Given the description of an element on the screen output the (x, y) to click on. 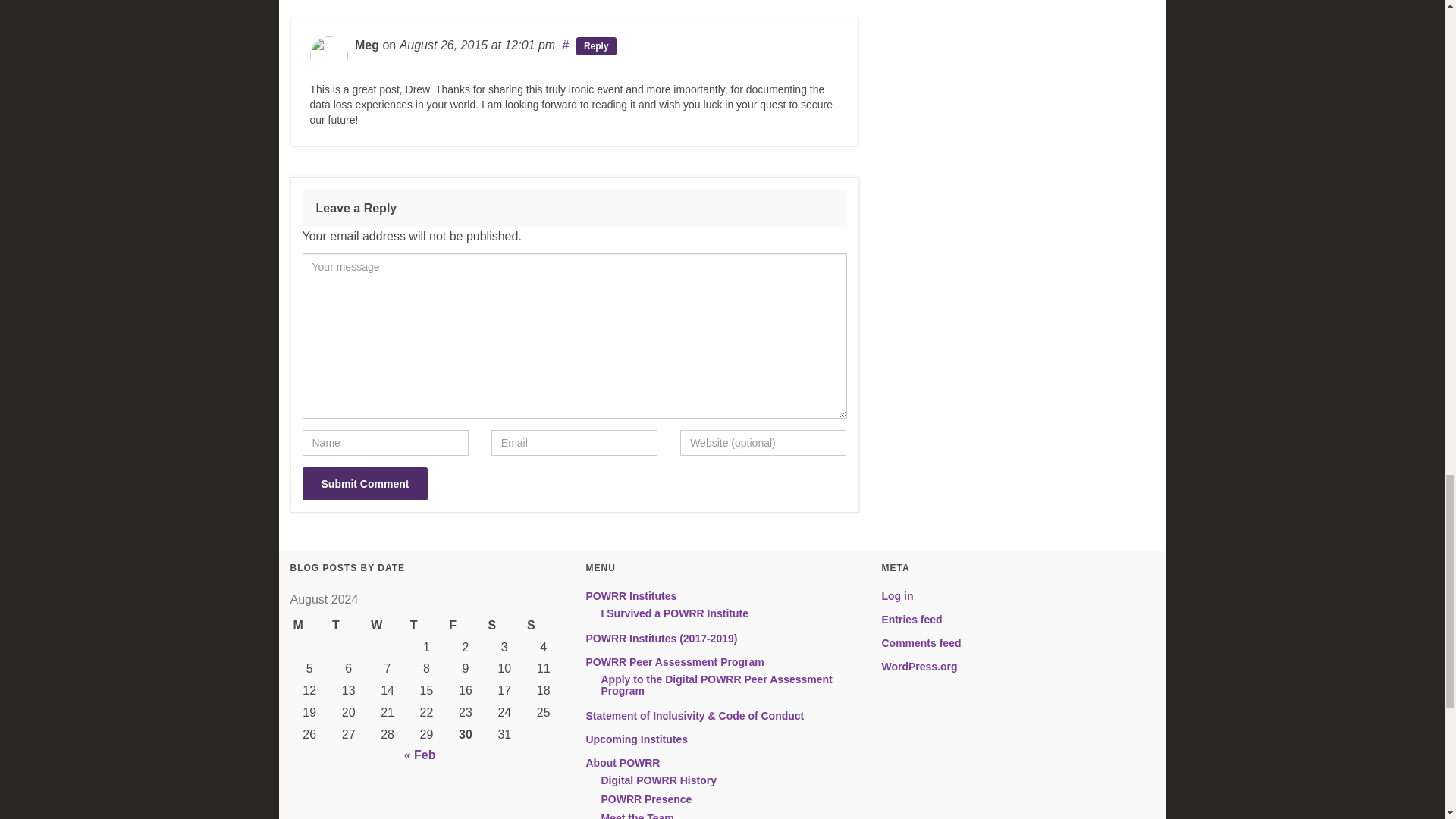
Friday (464, 626)
Thursday (426, 626)
Submit Comment (364, 483)
Submit Comment (364, 483)
Sunday (543, 626)
Monday (309, 626)
Tuesday (348, 626)
Reply (595, 45)
Saturday (504, 626)
Wednesday (387, 626)
